Given the description of an element on the screen output the (x, y) to click on. 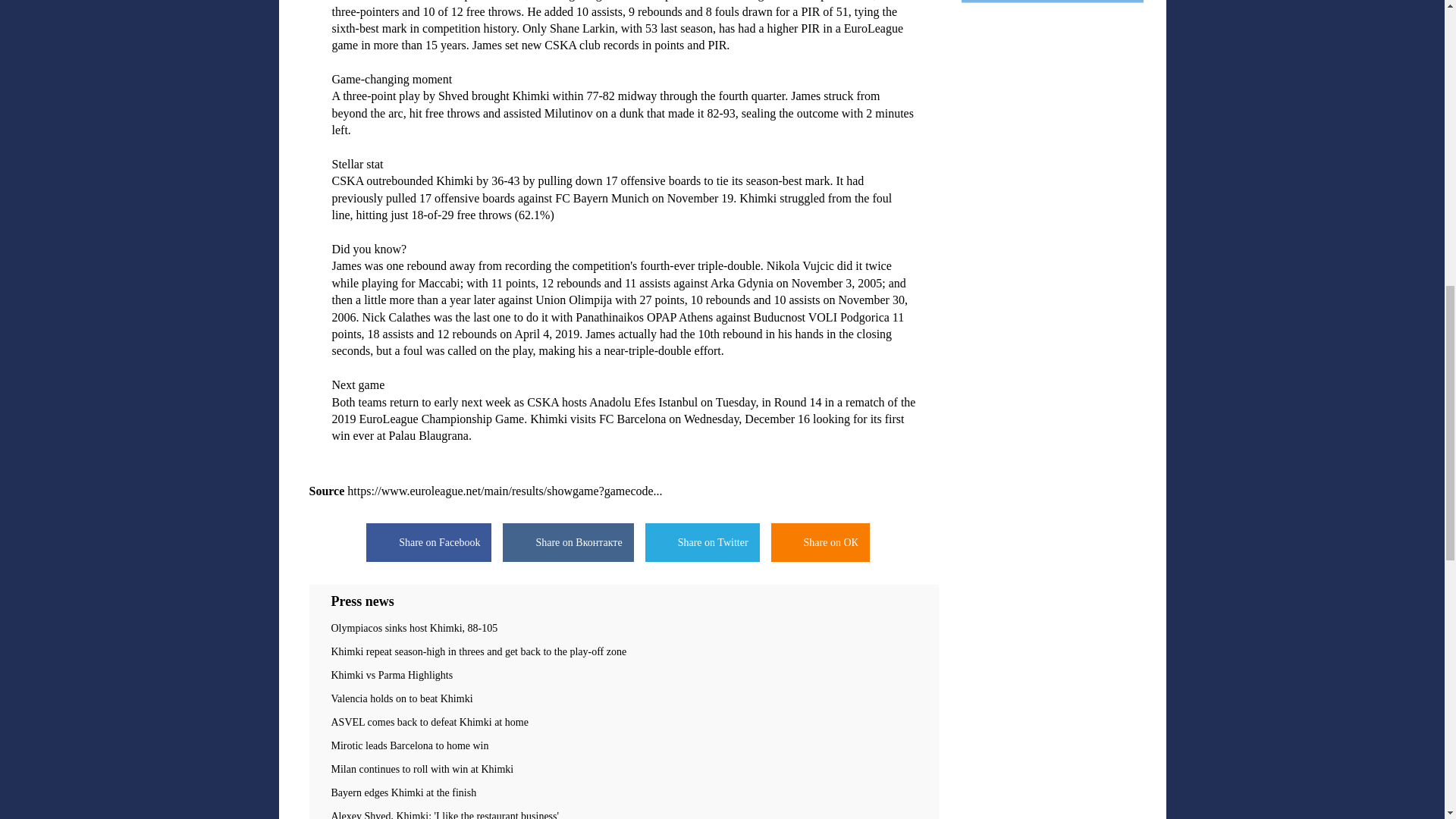
Khimki vs Parma Highlights (622, 675)
Share on Facebook (429, 542)
Milan continues to roll with win at Khimki (622, 769)
Bayern edges Khimki at the finish (622, 793)
Mirotic leads Barcelona to home win (622, 746)
Alexey Shved, Khimki: 'I like the restaurant business' (622, 814)
Valencia holds on to beat Khimki (622, 698)
ASVEL comes back to defeat Khimki at home (622, 722)
Share on Twitter (702, 542)
